Given the description of an element on the screen output the (x, y) to click on. 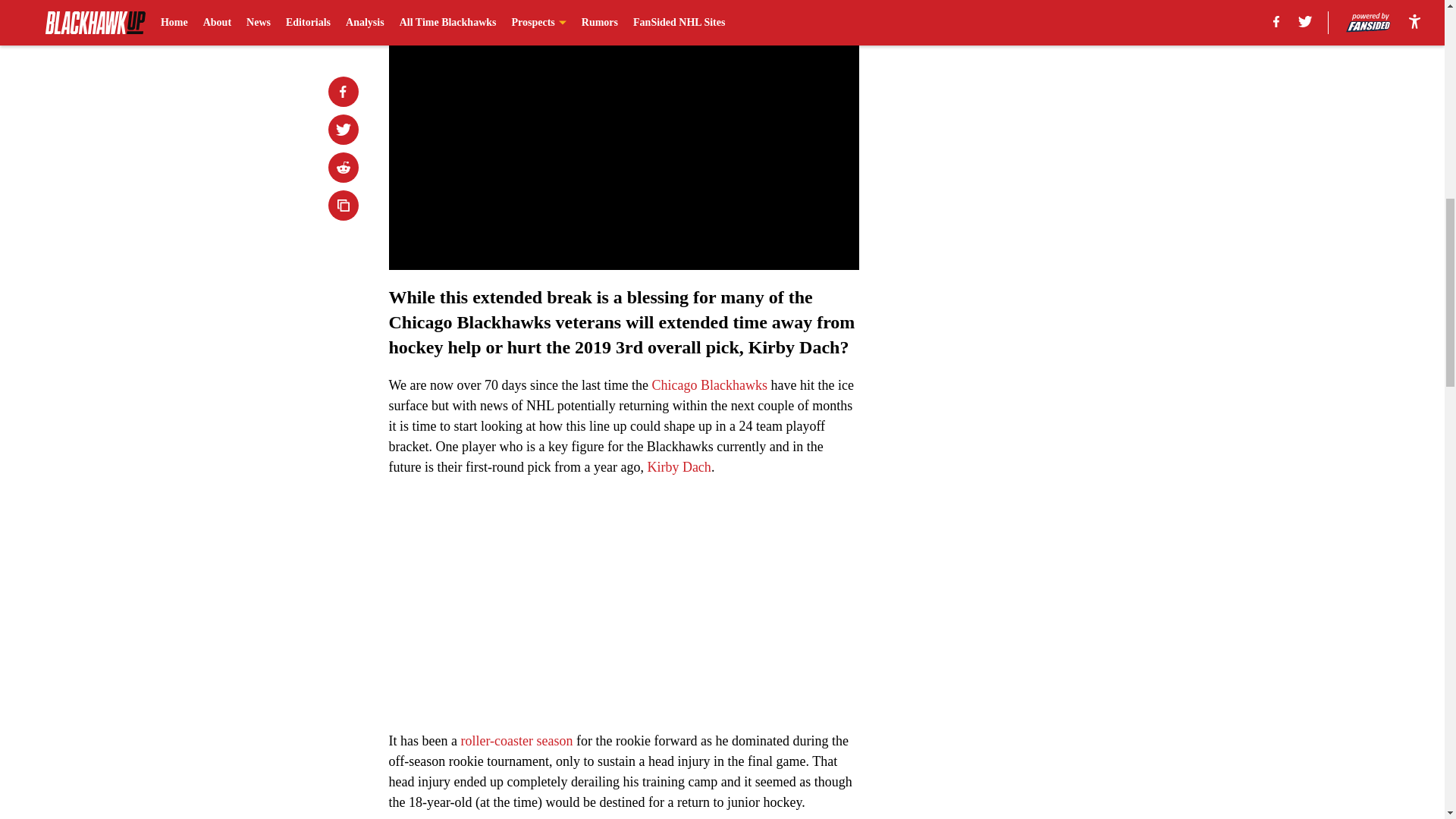
Chicago Blackhawks (708, 385)
roller-coaster season (516, 740)
Kirby Dach (678, 467)
